Given the description of an element on the screen output the (x, y) to click on. 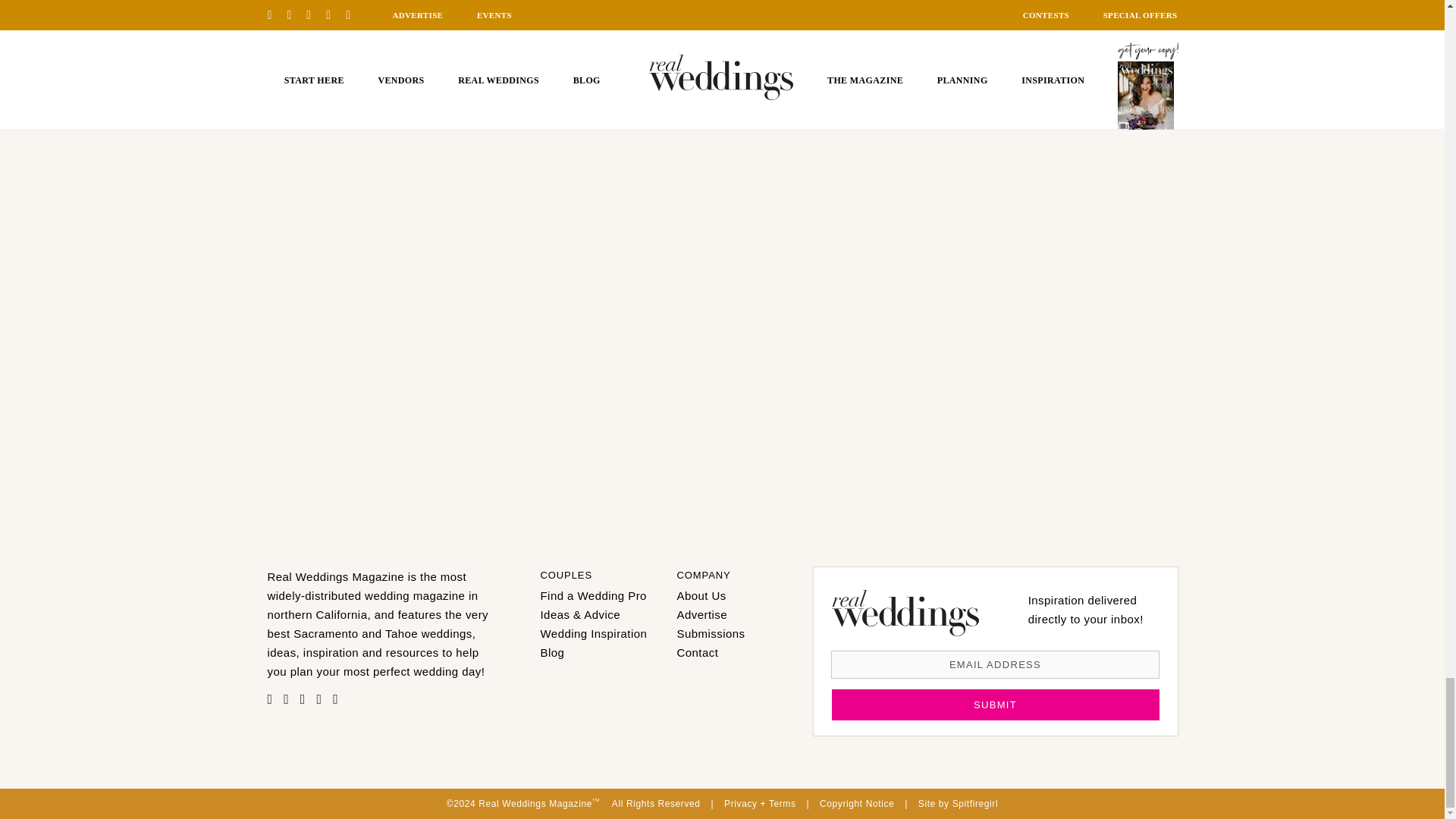
SUBMIT (994, 704)
EMAIL ADDRESS (994, 664)
Facebook (290, 698)
Pinterest (272, 698)
Instagram (306, 698)
